Given the description of an element on the screen output the (x, y) to click on. 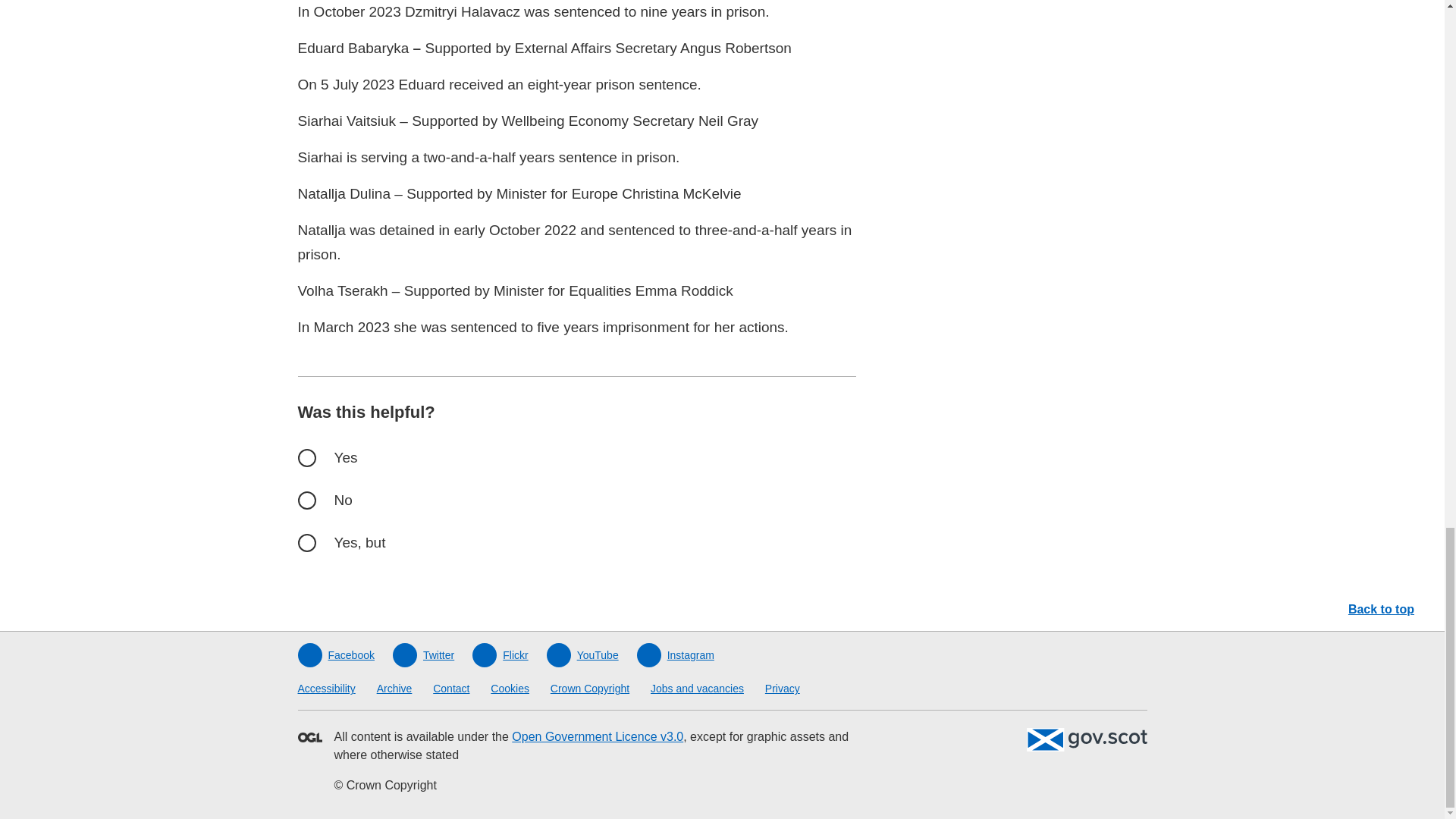
YouTube (582, 654)
Flickr (499, 654)
Accessibility (326, 688)
Facebook (335, 654)
Twitter (423, 654)
Instagram (675, 654)
Twitter (423, 654)
Flickr (499, 654)
Instagram (675, 654)
Facebook (335, 654)
YouTube (582, 654)
